Given the description of an element on the screen output the (x, y) to click on. 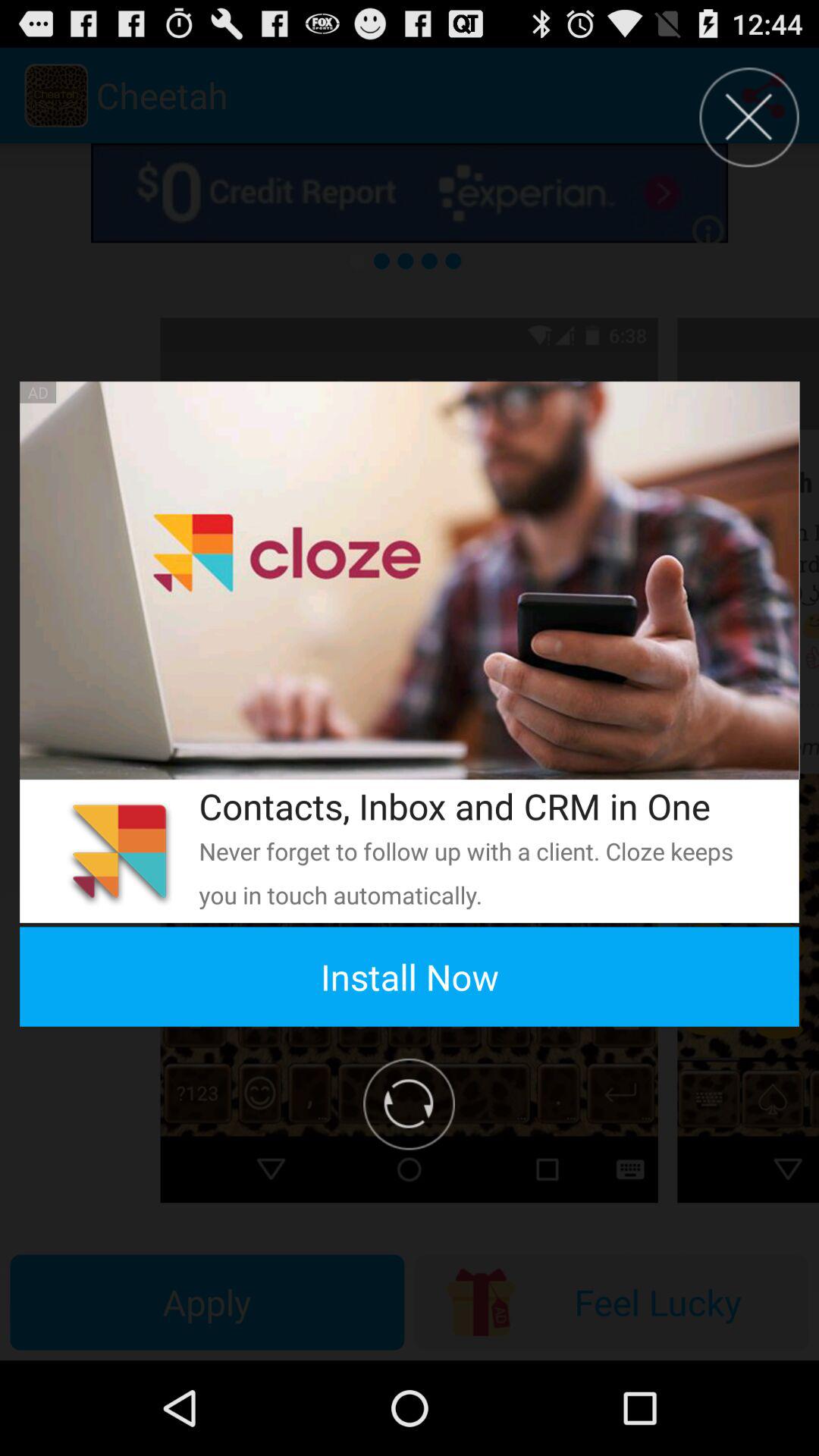
jump until contacts inbox and app (479, 805)
